Given the description of an element on the screen output the (x, y) to click on. 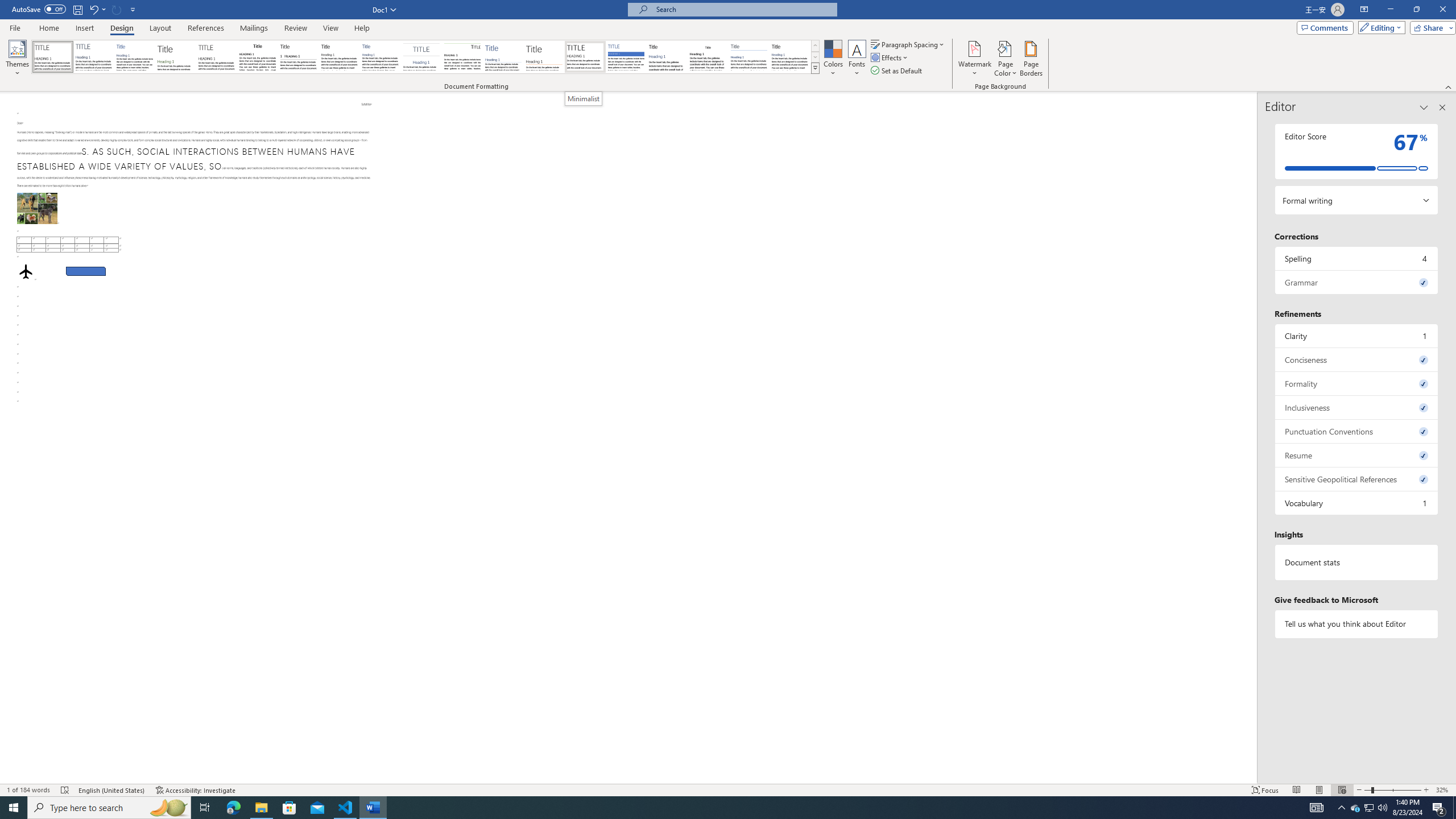
Casual (379, 56)
Document statistics (1356, 561)
Black & White (Numbered) (298, 56)
Effects (890, 56)
Lines (Simple) (503, 56)
Vocabulary, 1 issue. Press space or enter to review items. (1356, 502)
Formality, 0 issues. Press space or enter to review items. (1356, 383)
Word (666, 56)
Fonts (856, 58)
